Given the description of an element on the screen output the (x, y) to click on. 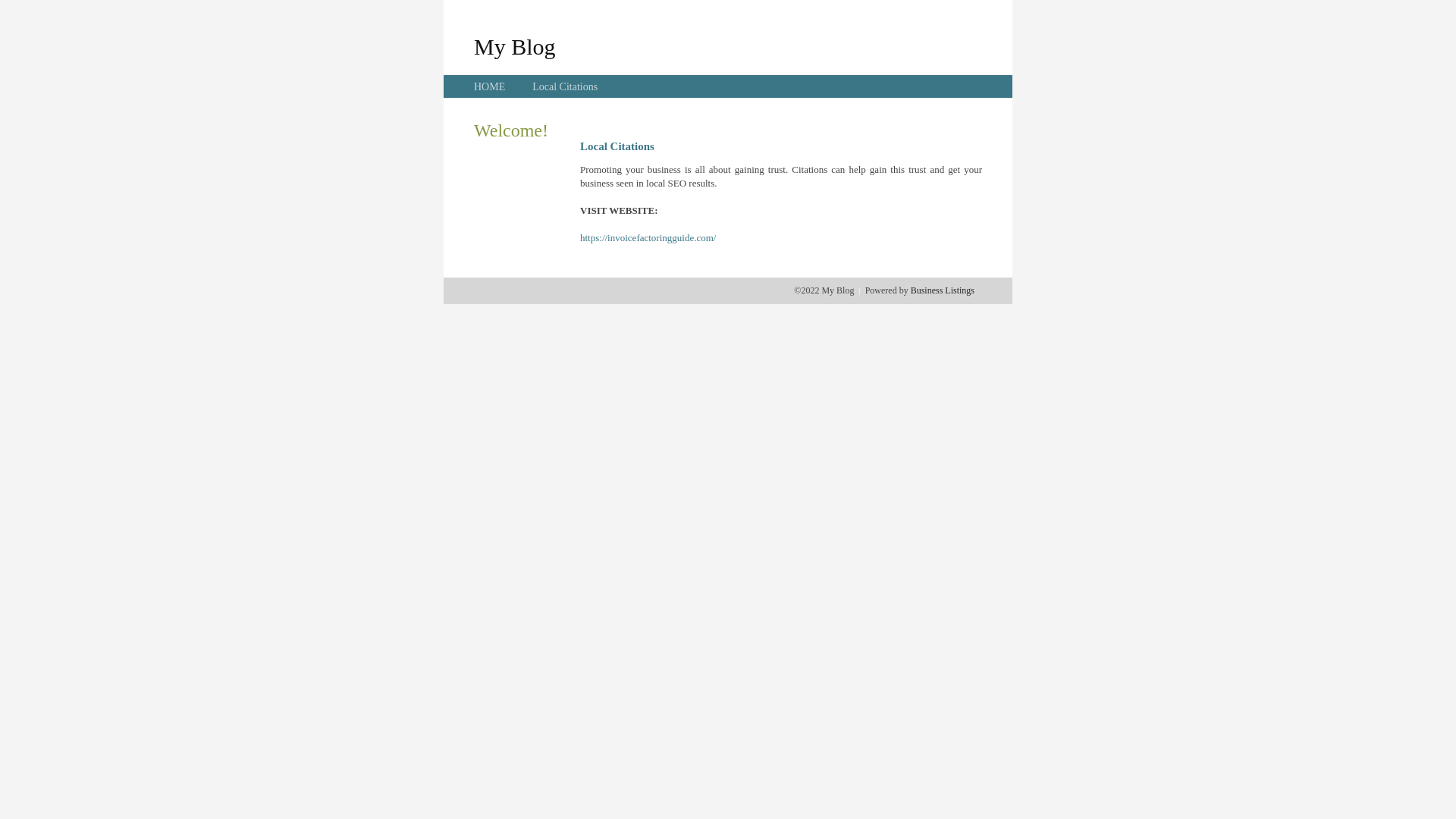
Local Citations Element type: text (564, 86)
HOME Element type: text (489, 86)
Business Listings Element type: text (942, 290)
My Blog Element type: text (514, 46)
https://invoicefactoringguide.com/ Element type: text (647, 237)
